Given the description of an element on the screen output the (x, y) to click on. 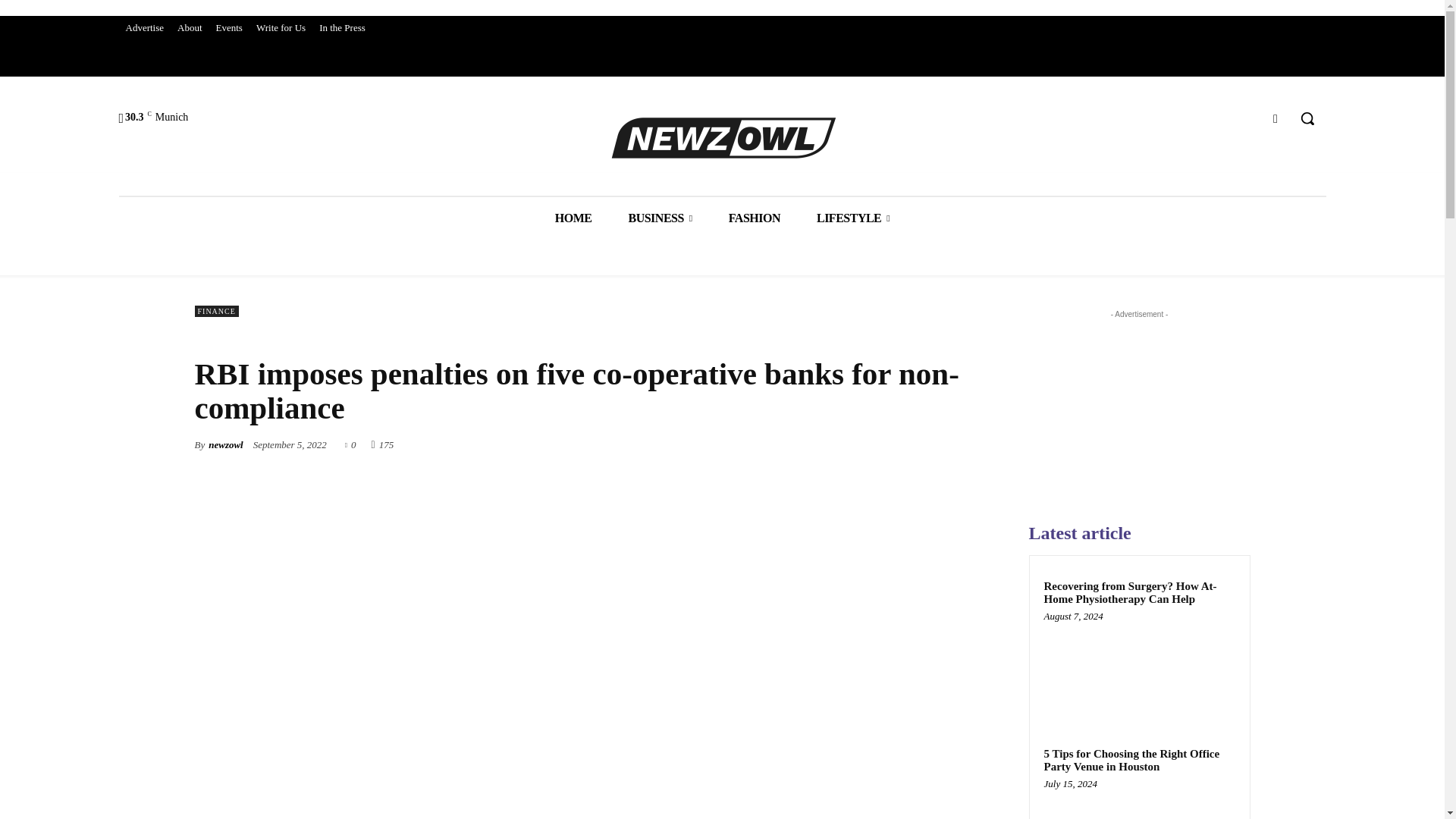
In the Press (342, 27)
newzowl (225, 444)
FINANCE (215, 310)
Facebook (1275, 118)
HOME (573, 218)
Advertise (143, 27)
Events (228, 27)
LIFESTYLE (852, 218)
0 (350, 443)
FASHION (753, 218)
